Given the description of an element on the screen output the (x, y) to click on. 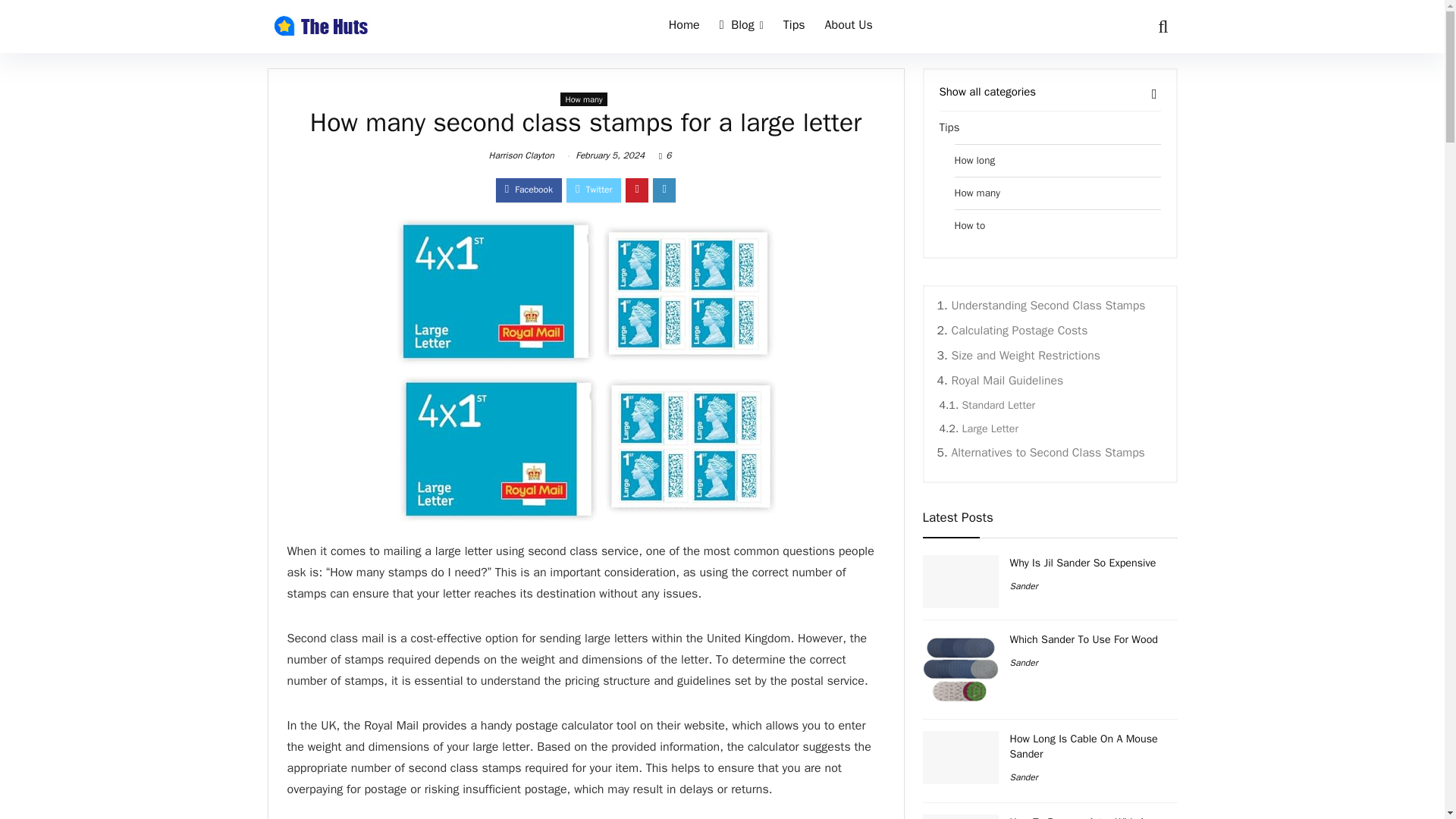
How many (583, 99)
Tips (794, 26)
View all posts in How many (583, 99)
Blog (741, 26)
Harrison Clayton (521, 155)
Home (684, 26)
About Us (848, 26)
